Given the description of an element on the screen output the (x, y) to click on. 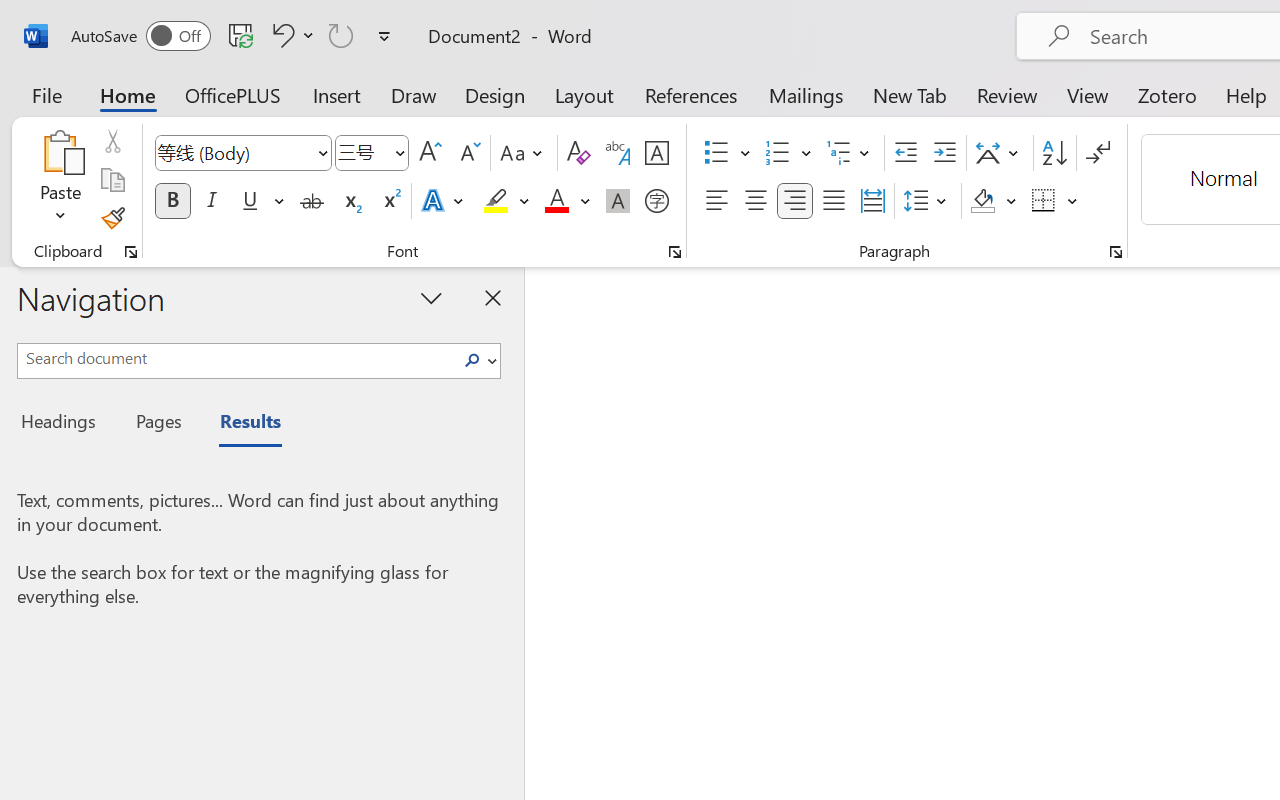
Center (756, 201)
Clear Formatting (578, 153)
Multilevel List (850, 153)
Insert (337, 94)
OfficePLUS (233, 94)
Shading RGB(0, 0, 0) (982, 201)
